Given the description of an element on the screen output the (x, y) to click on. 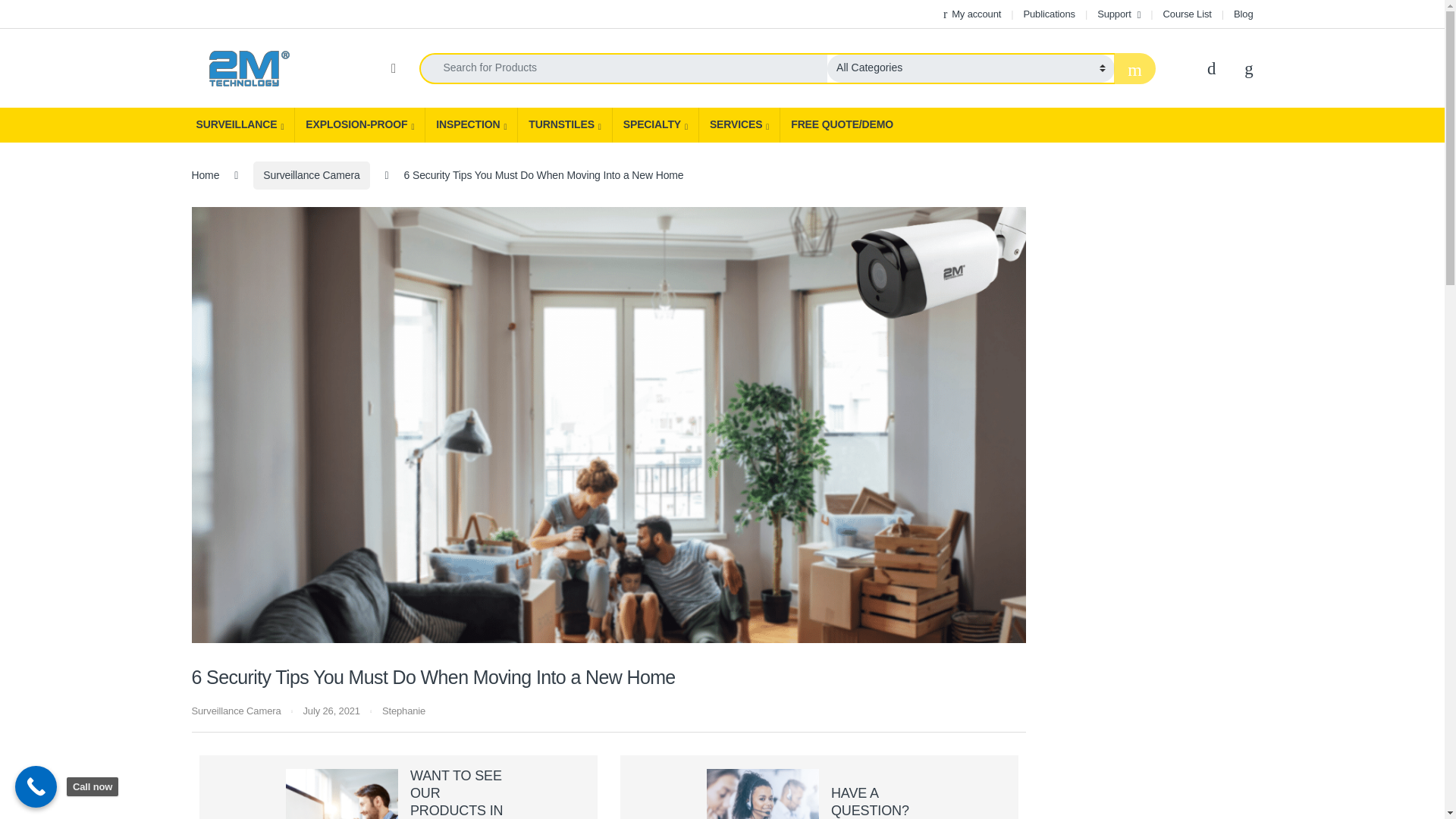
Support (1118, 13)
Course List (1187, 13)
Course List (1187, 13)
Support (1118, 13)
Publications (1048, 13)
My account (972, 13)
My account (972, 13)
Publications (1048, 13)
